Given the description of an element on the screen output the (x, y) to click on. 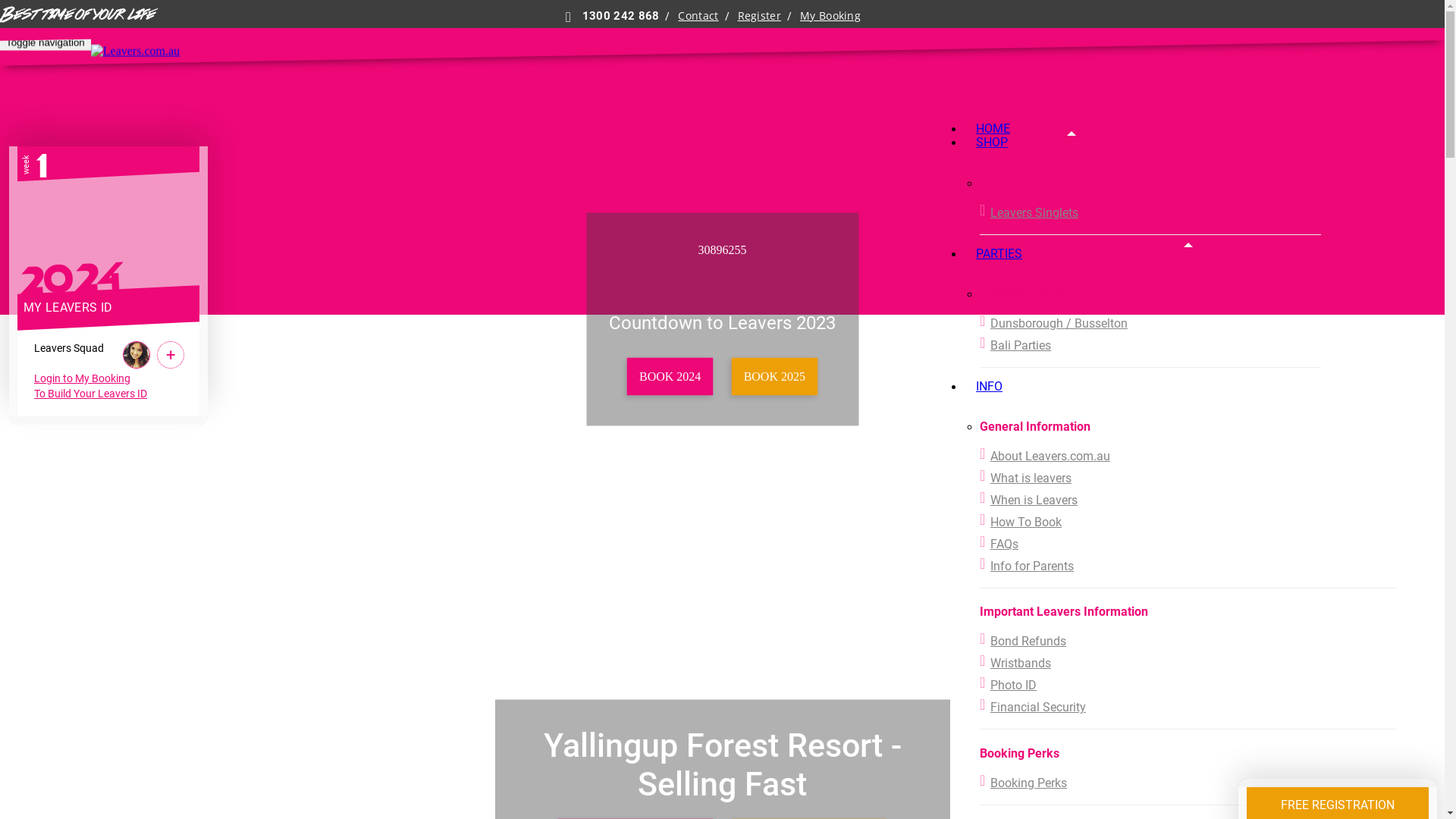
About Leavers.com.au Element type: text (1187, 456)
SHOP Element type: text (991, 141)
BOOK 2024 Element type: text (670, 376)
INFO Element type: text (988, 386)
Photo ID Element type: text (1187, 685)
When is Leavers Element type: text (1187, 500)
BOOK 2025 Element type: text (774, 376)
Bond Refunds Element type: text (1187, 641)
Register Element type: text (759, 15)
What is leavers Element type: text (1187, 478)
Financial Security Element type: text (1187, 707)
Wristbands Element type: text (1187, 663)
FAQs Element type: text (1187, 544)
PARTIES Element type: text (998, 253)
Contact Element type: text (697, 15)
Bali Parties Element type: text (1150, 345)
HOME Element type: text (992, 128)
Info for Parents Element type: text (1187, 566)
How To Book Element type: text (1187, 522)
+ Element type: text (170, 354)
Leavers Singlets Element type: text (1150, 212)
Toggle navigation Element type: text (45, 42)
1300 242 868 Element type: text (612, 15)
Booking Perks Element type: text (1187, 782)
Dunsborough / Busselton Element type: text (1150, 323)
My Booking Element type: text (830, 15)
Login to My Booking
To Build Your Leavers ID Element type: text (90, 385)
